Given the description of an element on the screen output the (x, y) to click on. 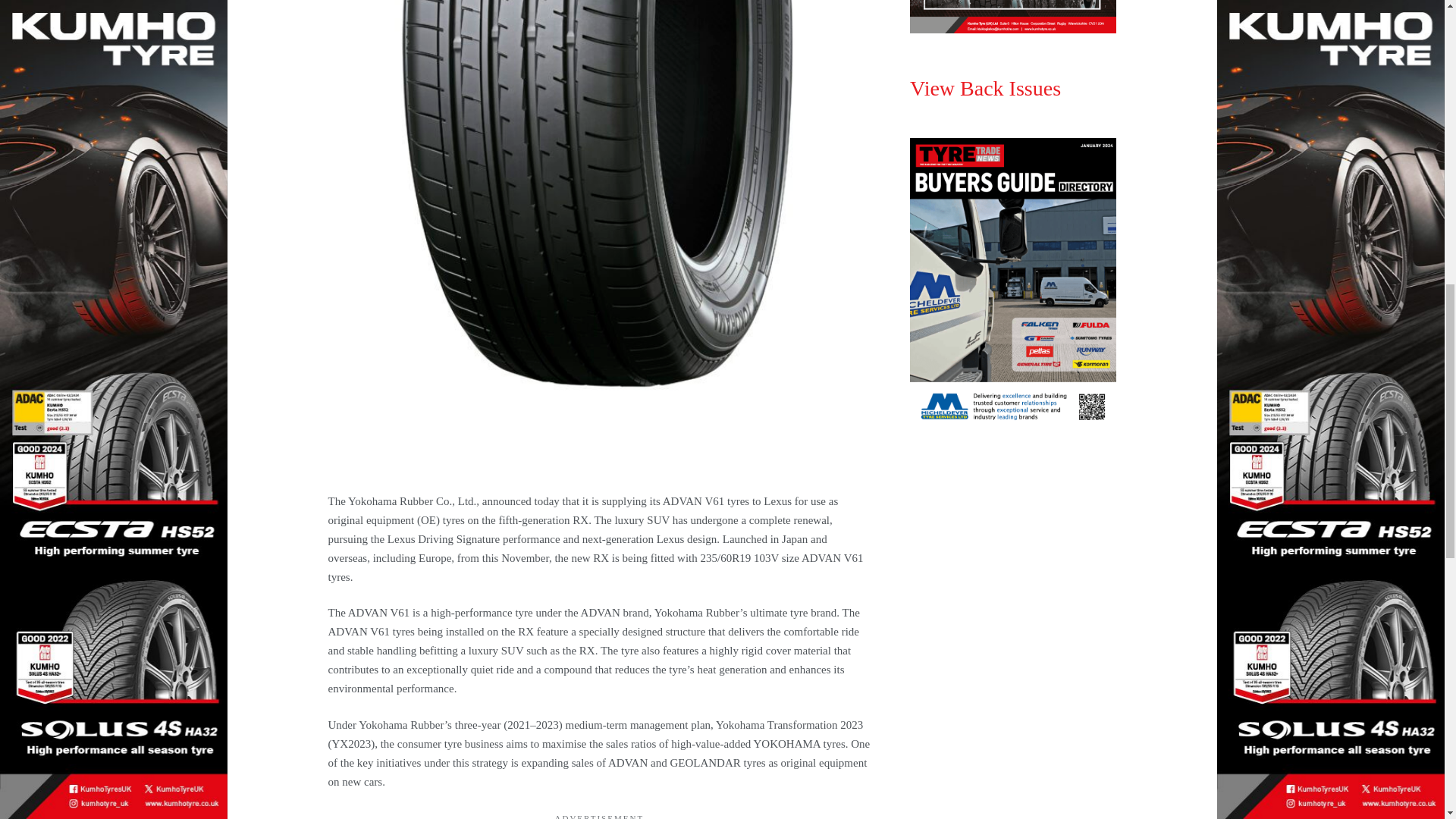
Latest Issue (1013, 16)
Back to top (1413, 26)
View Back Issues (985, 87)
